Given the description of an element on the screen output the (x, y) to click on. 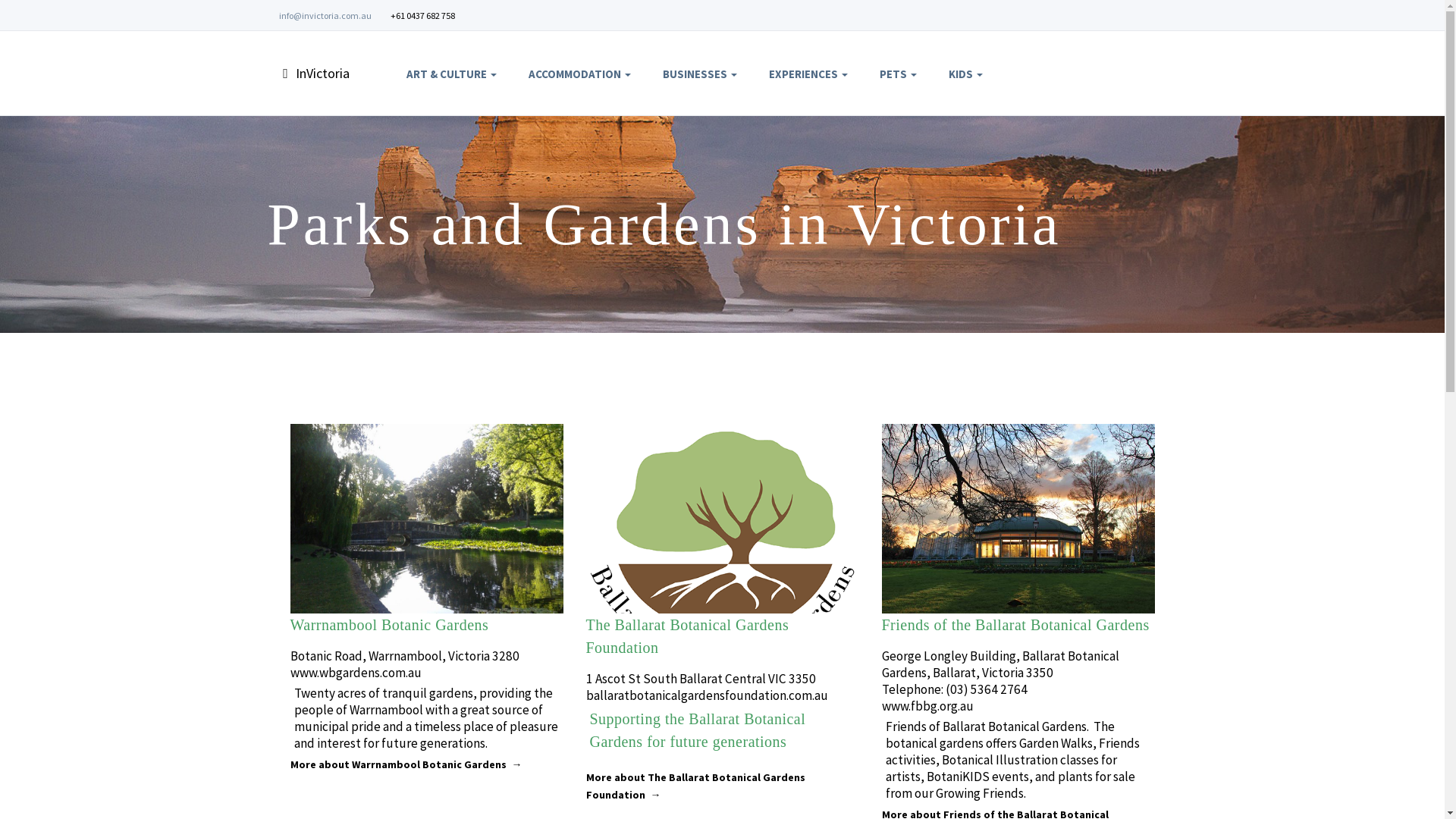
ballaratbotanicalgardensfoundation.com.au Element type: text (706, 695)
info@invictoria.com.au Element type: text (325, 15)
ART & CULTURE Element type: text (451, 73)
More about Warrnambool Botanic Gardens Element type: text (405, 764)
Friends of the Ballarat Botanical Gardens Element type: text (1014, 624)
www.wbgardens.com.au Element type: text (354, 672)
The Ballarat Botanical Gardens Foundation Element type: text (686, 635)
www.fbbg.org.au Element type: text (926, 705)
KIDS Element type: text (965, 73)
BUSINESSES Element type: text (699, 73)
EXPERIENCES Element type: text (808, 73)
More about The Ballarat Botanical Gardens Foundation Element type: text (694, 785)
InVictoria Element type: text (323, 72)
PETS Element type: text (897, 73)
Warrnambool Botanic Gardens Element type: text (388, 624)
ACCOMMODATION Element type: text (579, 73)
